Given the description of an element on the screen output the (x, y) to click on. 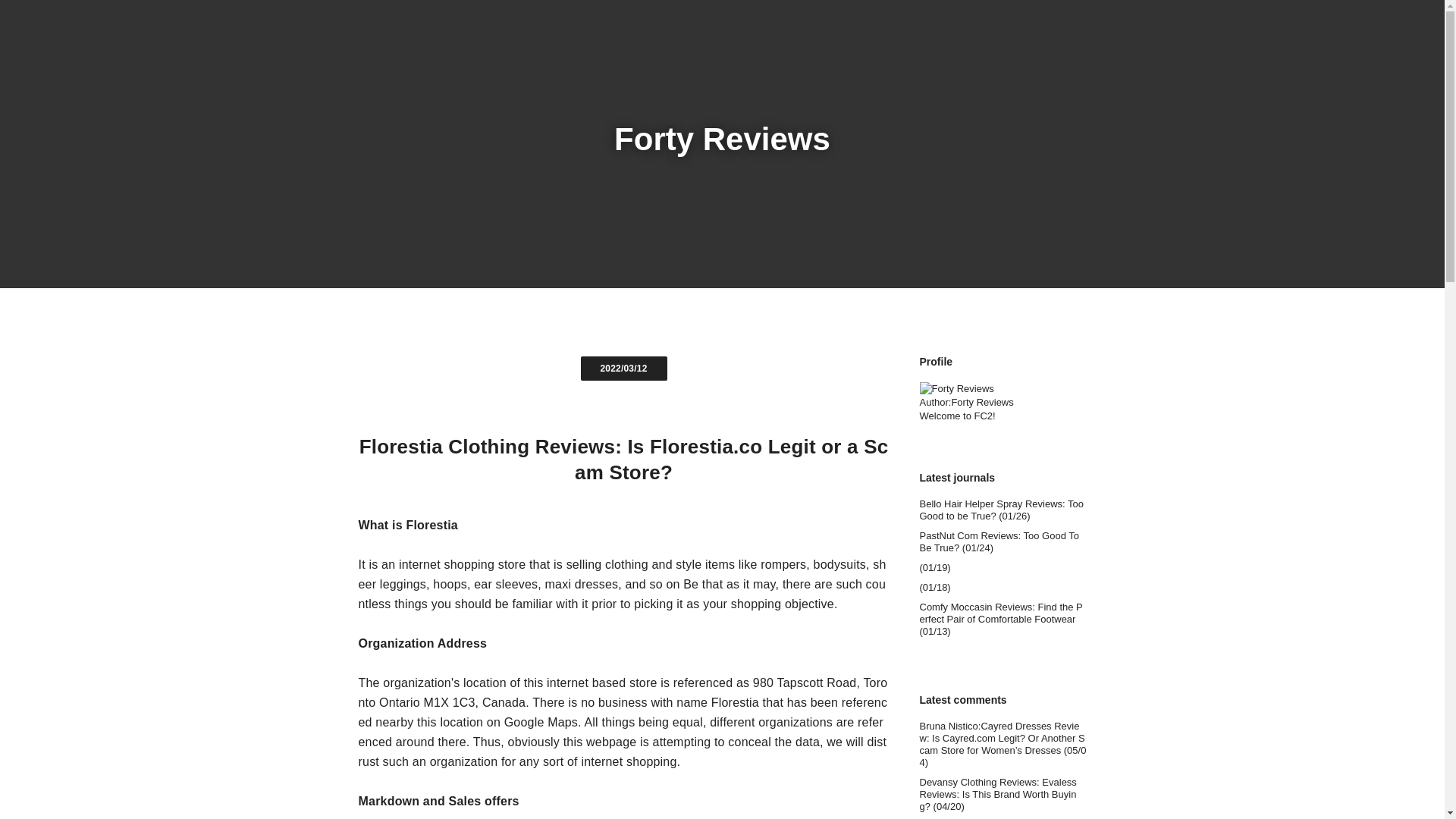
PastNut Com Reviews: Too Good To Be True? (1002, 541)
Devansy Clothing Reviews (1002, 794)
No title (1002, 744)
Bello Hair Helper Spray Reviews: Too Good to be True? (1002, 509)
Forty Reviews (721, 139)
